Given the description of an element on the screen output the (x, y) to click on. 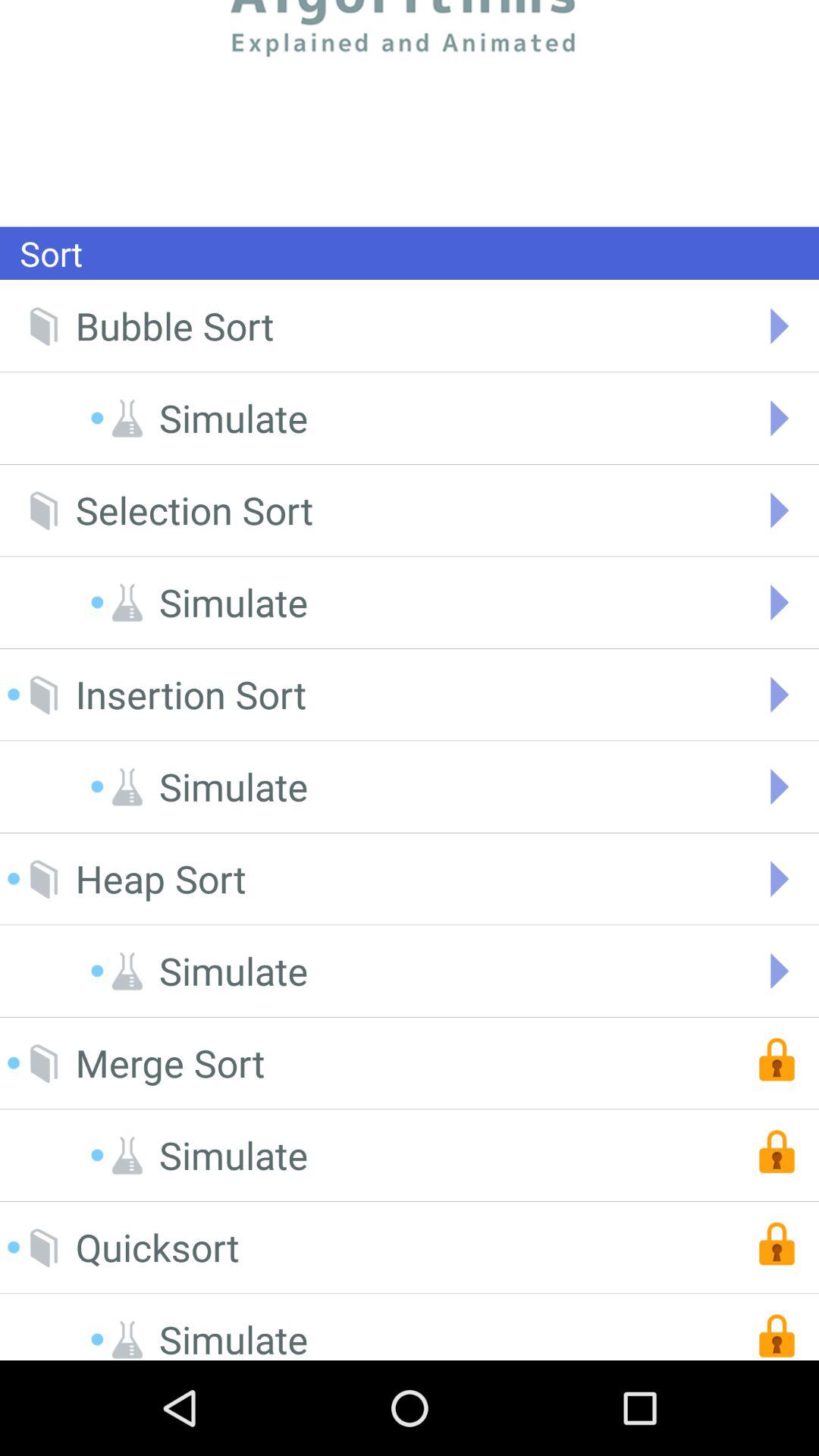
choose the quicksort (157, 1247)
